Given the description of an element on the screen output the (x, y) to click on. 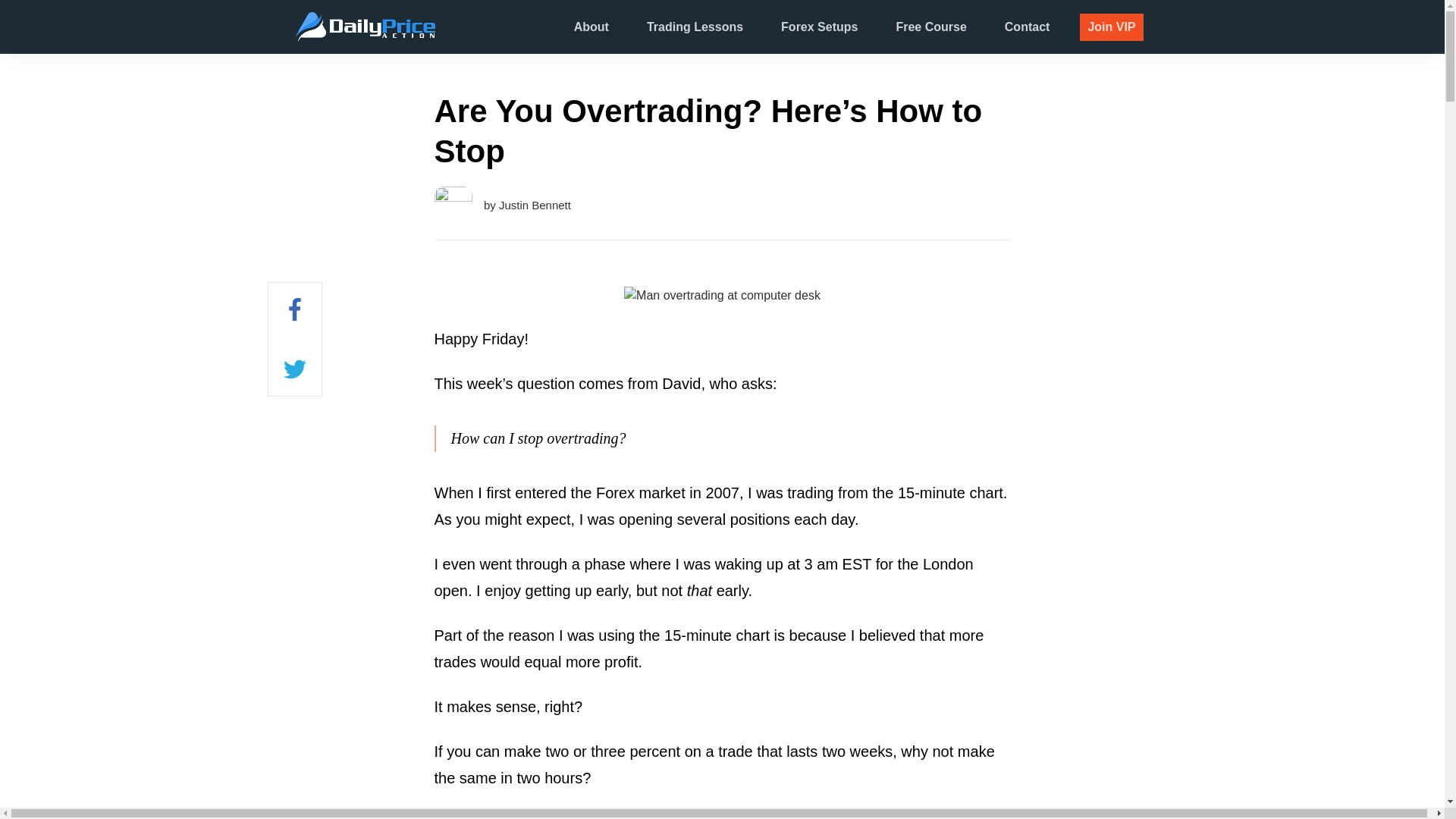
Trading Lessons (694, 27)
Twitter-avatar (452, 205)
Join VIP (1111, 27)
Are You Overtrading? Here's How to Stop 1 (722, 295)
Contact (1026, 27)
About (590, 27)
Free Course (930, 27)
Justin Bennett (534, 205)
Forex Setups (818, 27)
